Given the description of an element on the screen output the (x, y) to click on. 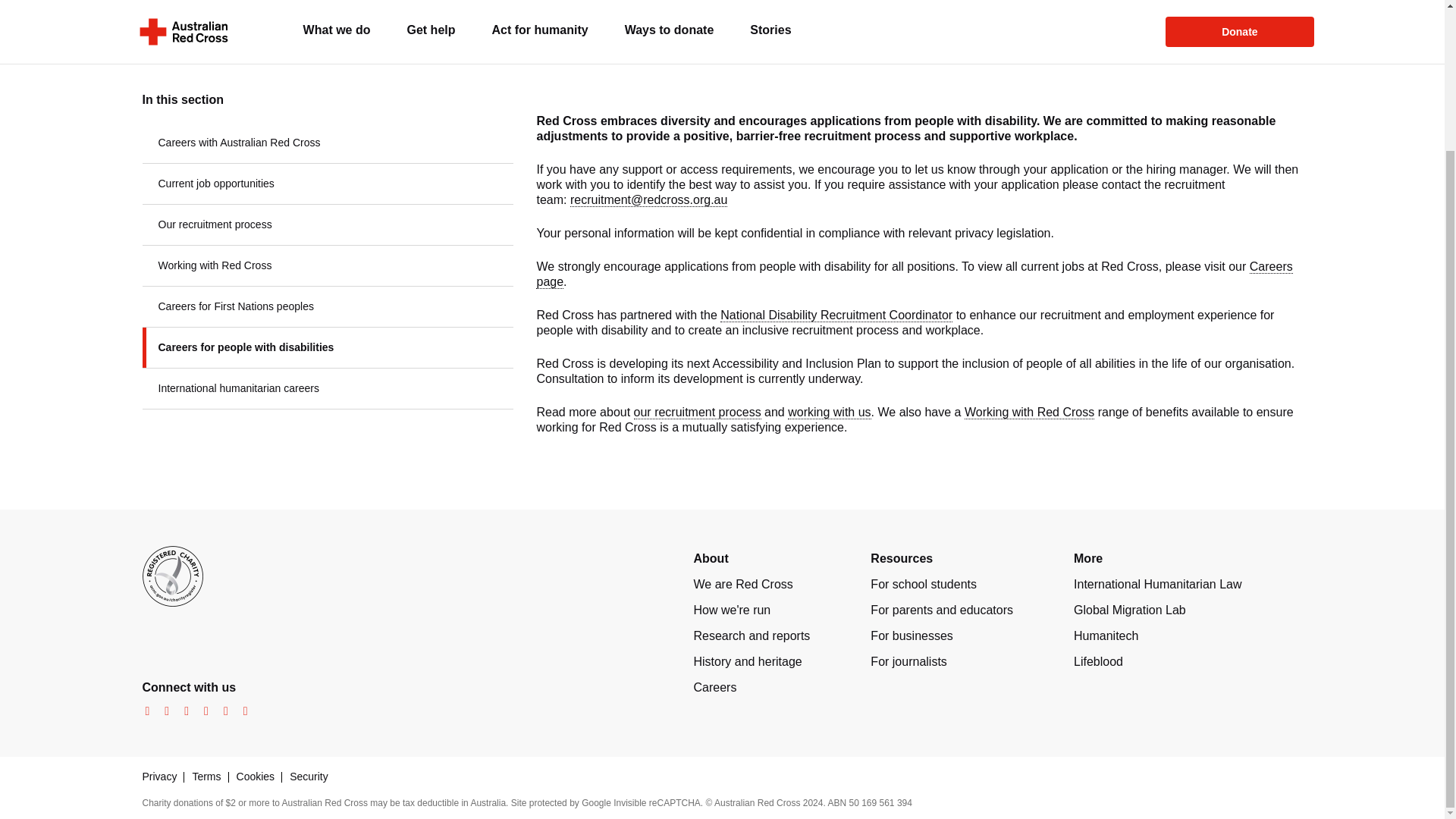
International Humanitarian Law (1157, 584)
History and heritage (747, 661)
Resources (901, 558)
linkedin (221, 710)
tiktok (240, 710)
About (710, 558)
twitter (181, 710)
Research and reports (751, 635)
youtube (201, 710)
More (1088, 558)
instagram (161, 710)
Careers (714, 686)
We are Red Cross (742, 584)
For journalists (908, 661)
For school students (923, 584)
